Given the description of an element on the screen output the (x, y) to click on. 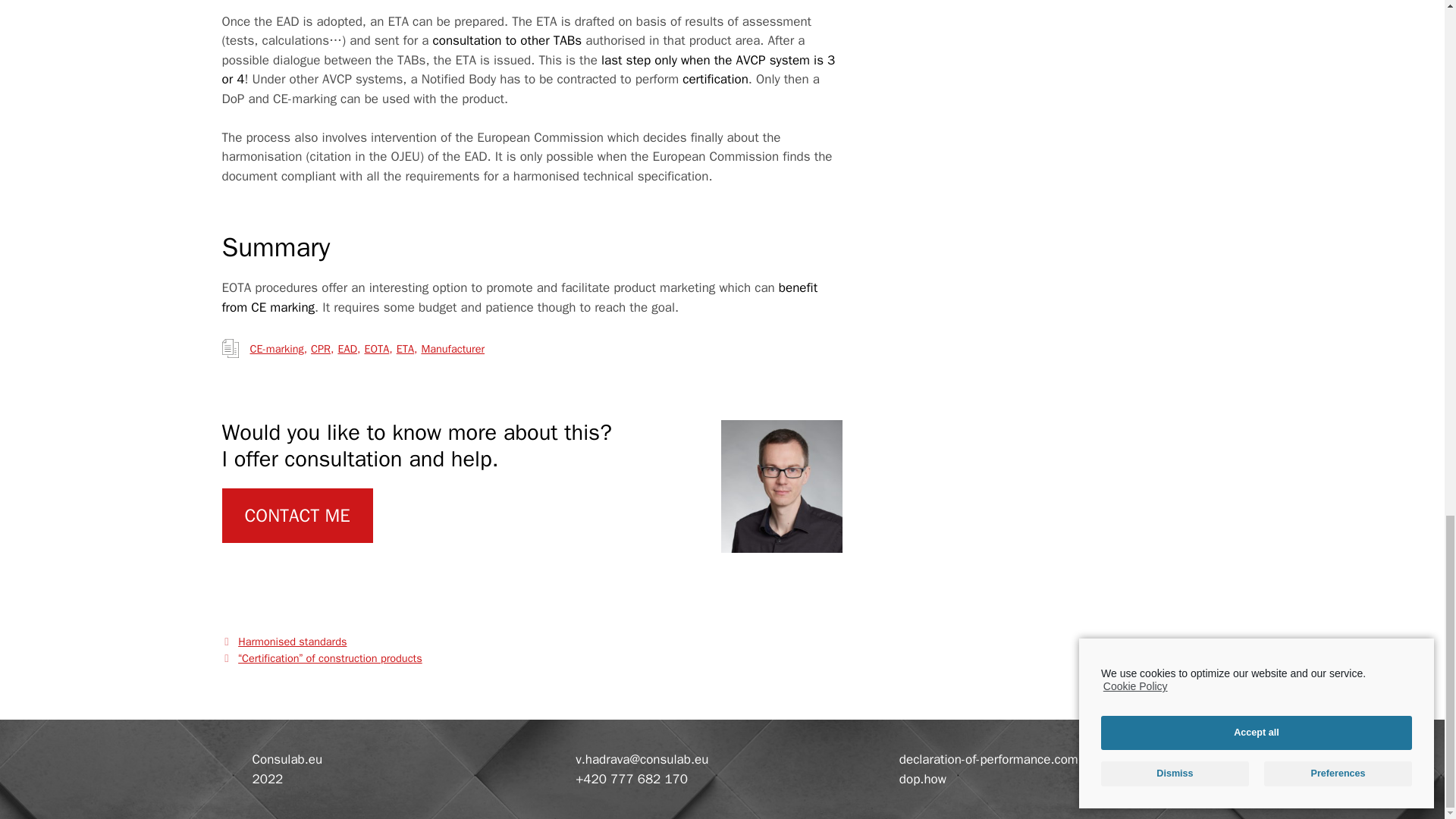
CONTACT ME (296, 515)
ETA (403, 349)
EAD (344, 349)
Next (321, 658)
CE-marking (274, 349)
Manufacturer (450, 349)
Previous (283, 641)
EOTA (373, 349)
Harmonised standards (292, 641)
CPR (318, 349)
